Given the description of an element on the screen output the (x, y) to click on. 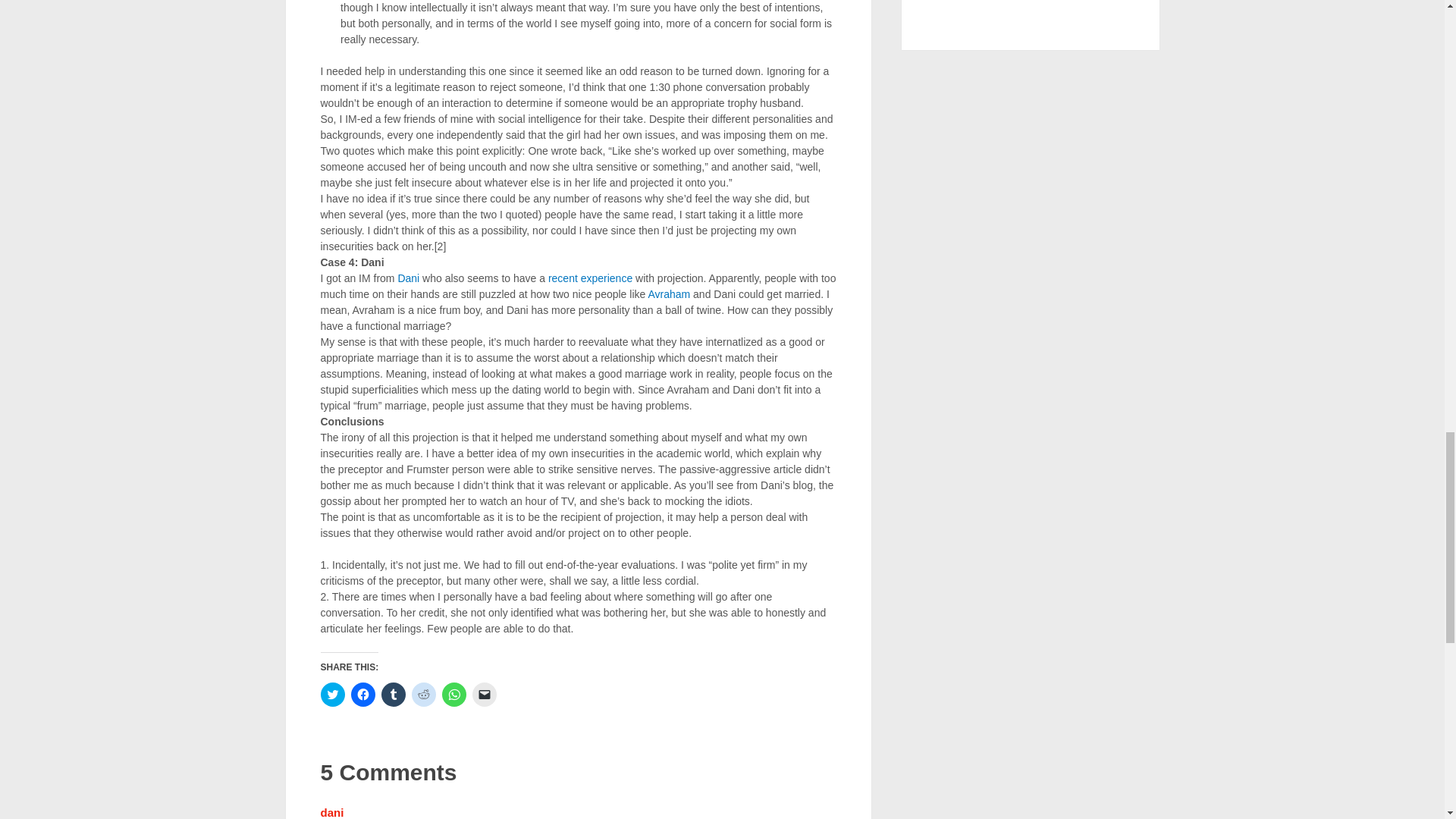
Click to share on Reddit (422, 694)
Click to share on Tumblr (392, 694)
Click to email a link to a friend (483, 694)
recent experience (589, 277)
Avraham (668, 294)
Click to share on Twitter (331, 694)
Click to share on WhatsApp (453, 694)
Dani (408, 277)
Click to share on Facebook (362, 694)
